Given the description of an element on the screen output the (x, y) to click on. 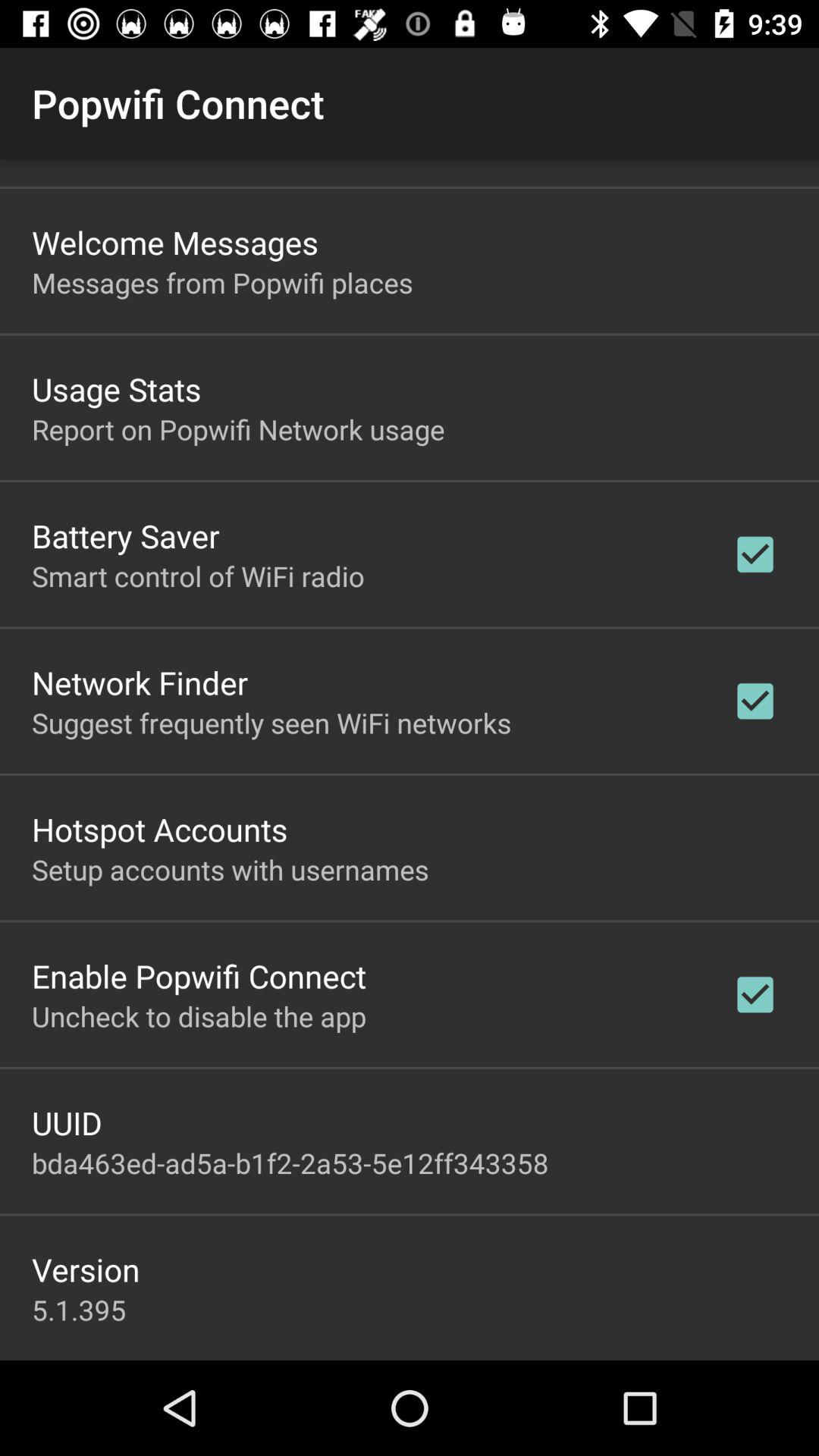
select the usage stats item (116, 388)
